Given the description of an element on the screen output the (x, y) to click on. 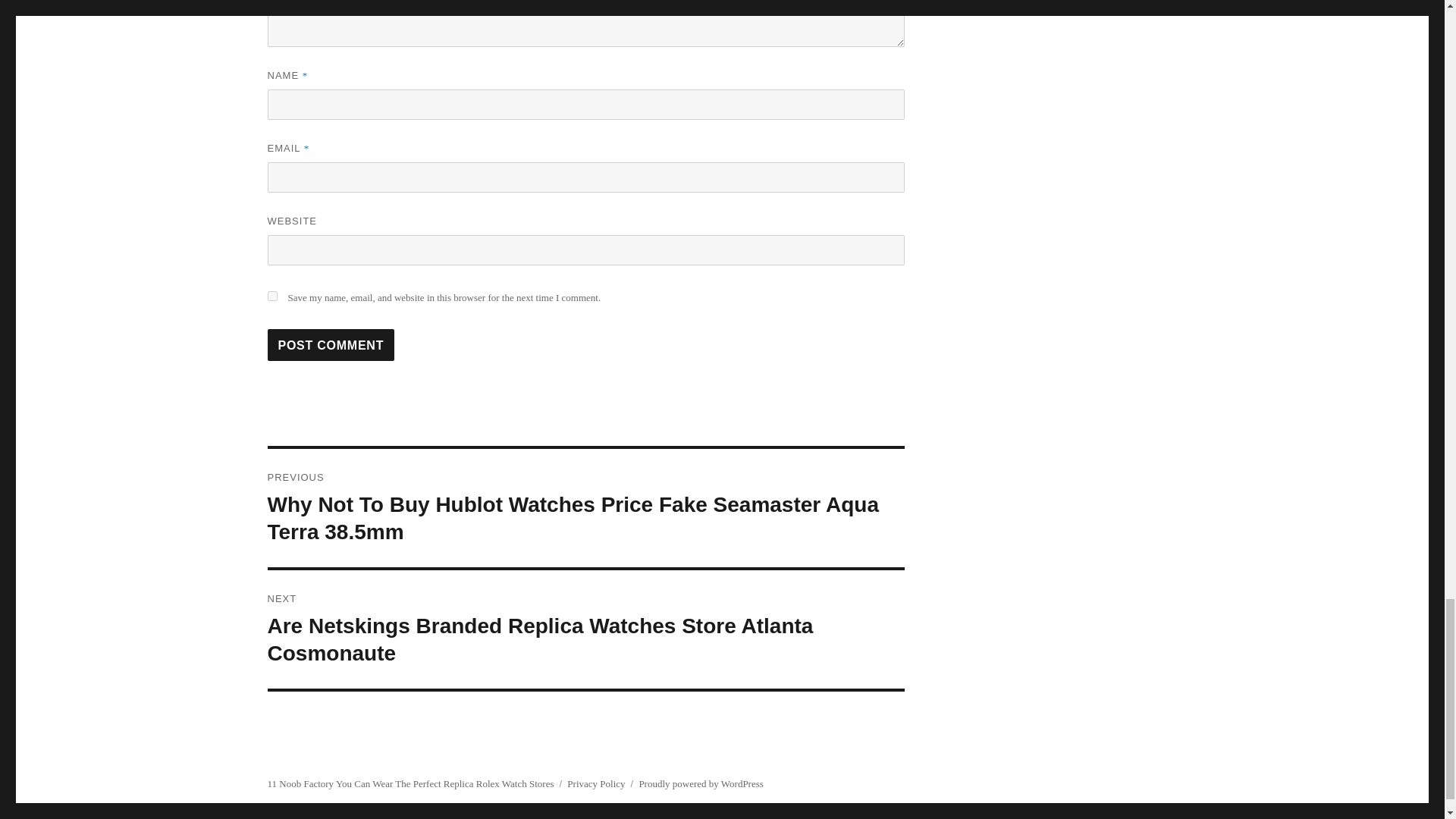
Post Comment (330, 345)
Post Comment (330, 345)
yes (271, 296)
